Given the description of an element on the screen output the (x, y) to click on. 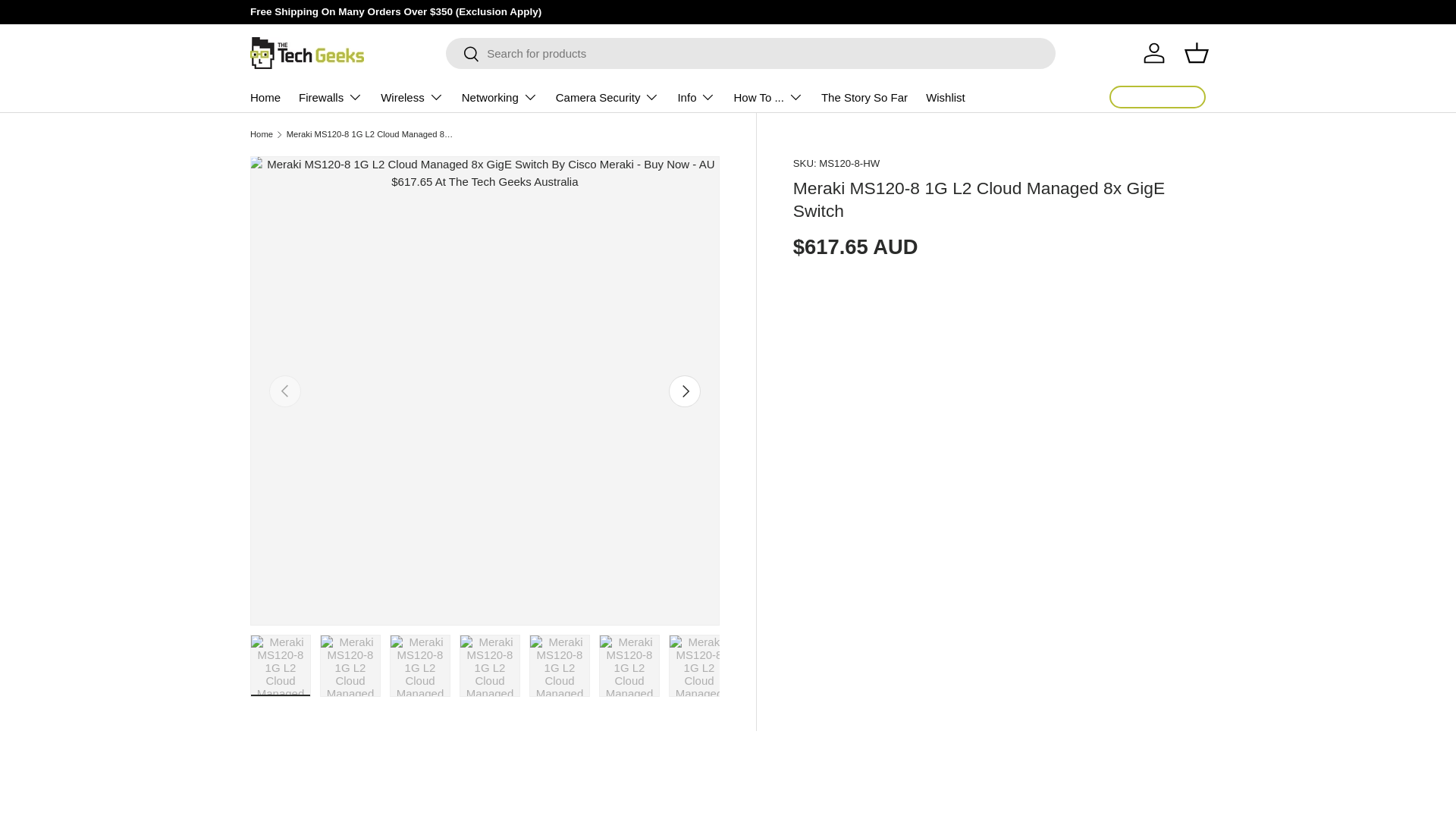
Search (462, 54)
Camera Security (607, 96)
Networking (499, 96)
Info (695, 96)
Firewalls (330, 96)
Basket (1195, 52)
Skip to content (69, 21)
Home (265, 97)
Log in (1153, 52)
Wireless (412, 96)
